Given the description of an element on the screen output the (x, y) to click on. 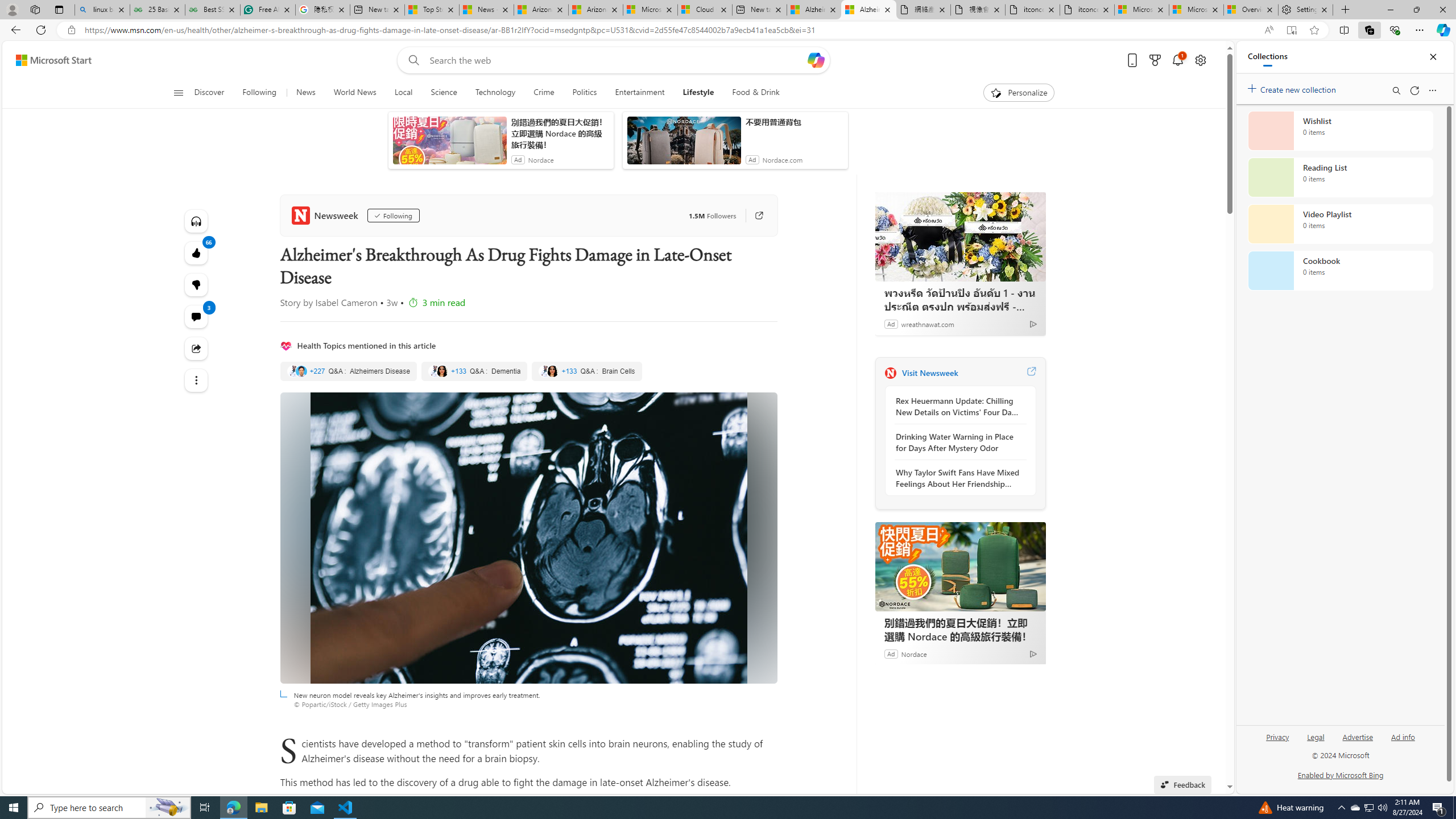
Nordace.com (781, 159)
View comments 3 Comment (196, 316)
Cloud Computing Services | Microsoft Azure (704, 9)
Drinking Water Warning in Place for Days After Mystery Odor (957, 441)
